Given the description of an element on the screen output the (x, y) to click on. 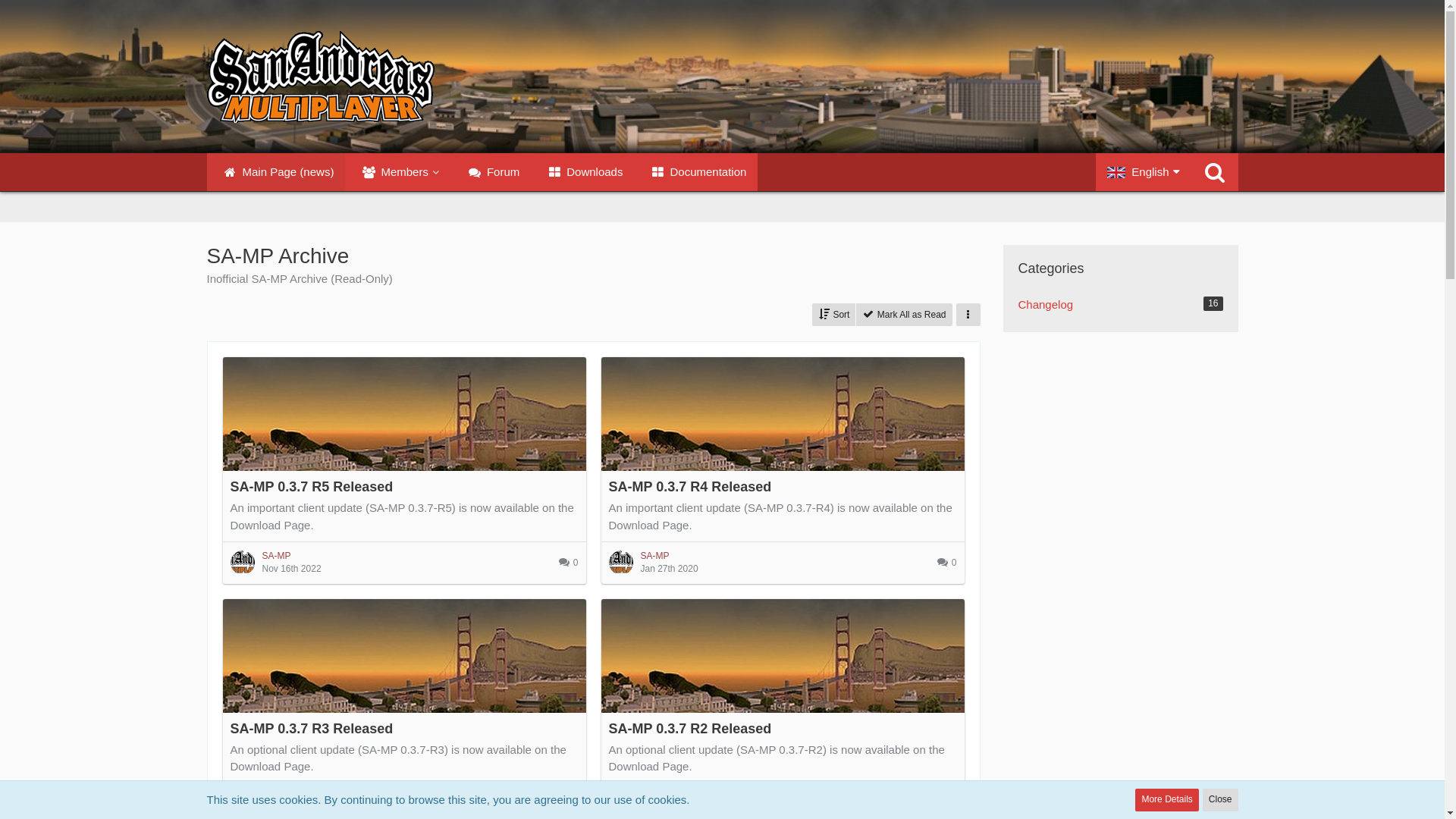
SA-MP 0.3.7 R2 Released Element type: text (689, 728)
Close Element type: text (1220, 799)
Downloads Element type: text (581, 172)
Main Page (news) Element type: text (275, 172)
Documentation Element type: text (695, 172)
Members Element type: text (398, 172)
Sort Element type: text (833, 314)
SA-MP 0.3.7 R3 Released Element type: text (311, 728)
Changelog
16 Element type: text (1119, 304)
SA-MP 0.3.7 R4 Released Element type: text (689, 486)
English Element type: text (1142, 172)
SA-MP 0.3.7 R5 Released Element type: text (311, 486)
Forum Element type: text (490, 172)
More Details Element type: text (1166, 799)
Mark All as Read Element type: text (903, 314)
